Given the description of an element on the screen output the (x, y) to click on. 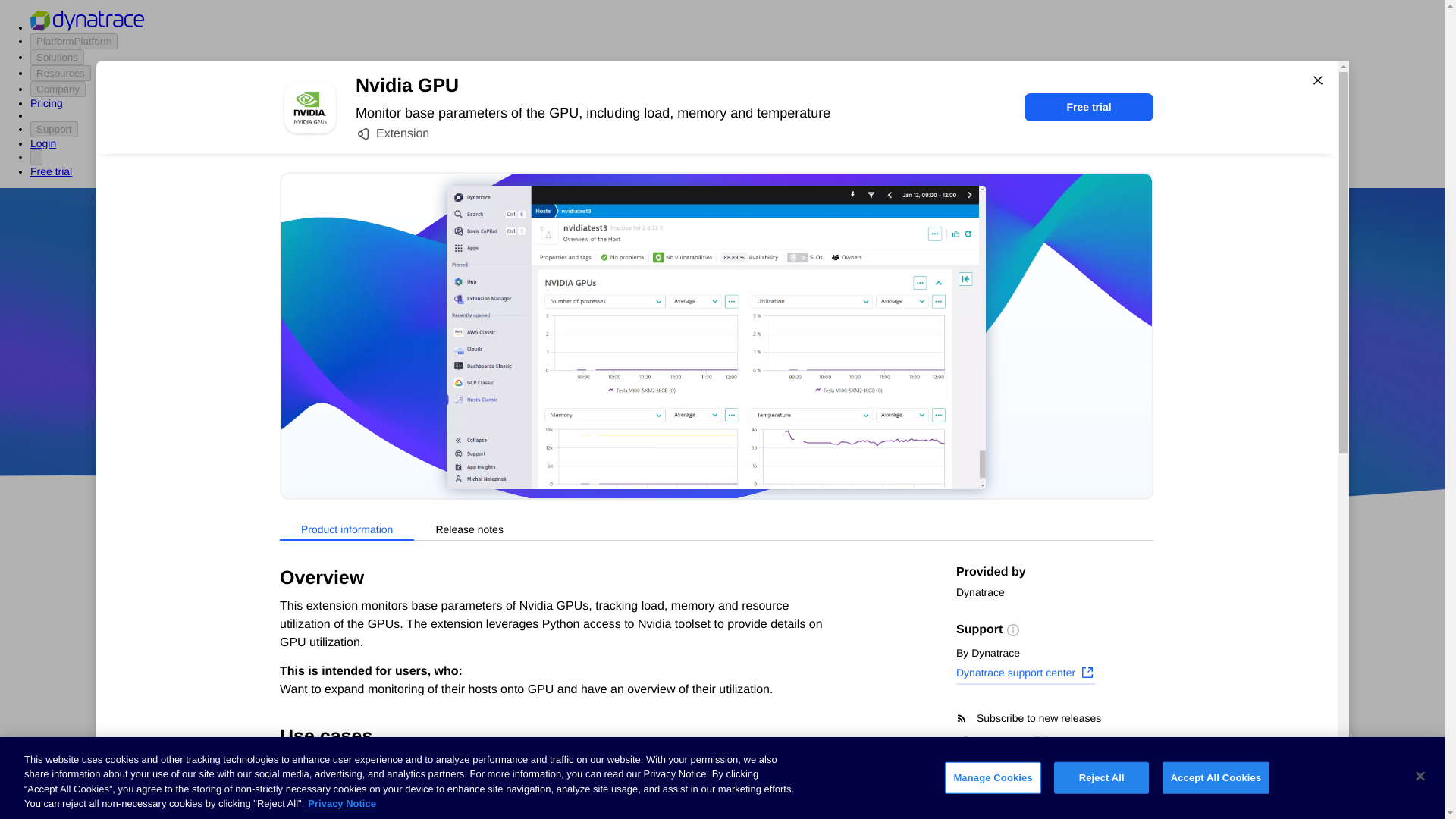
Subscribe to new releases (1054, 718)
Istio Service Mesh (842, 723)
Dynatrace support center (1025, 674)
Log Management and Analytics (345, 727)
Google Cloud (751, 418)
Open source (903, 418)
 artificial-intelligence machine-learning (607, 778)
Wipro (840, 375)
WIPRO Holmes (606, 723)
Free trial (1089, 107)
AWS (637, 418)
Kubernetes (295, 755)
Get data into Dynatrace (325, 641)
Hub home (291, 583)
 Envoy Istio Kubernetes Service Mesh (841, 778)
